Given the description of an element on the screen output the (x, y) to click on. 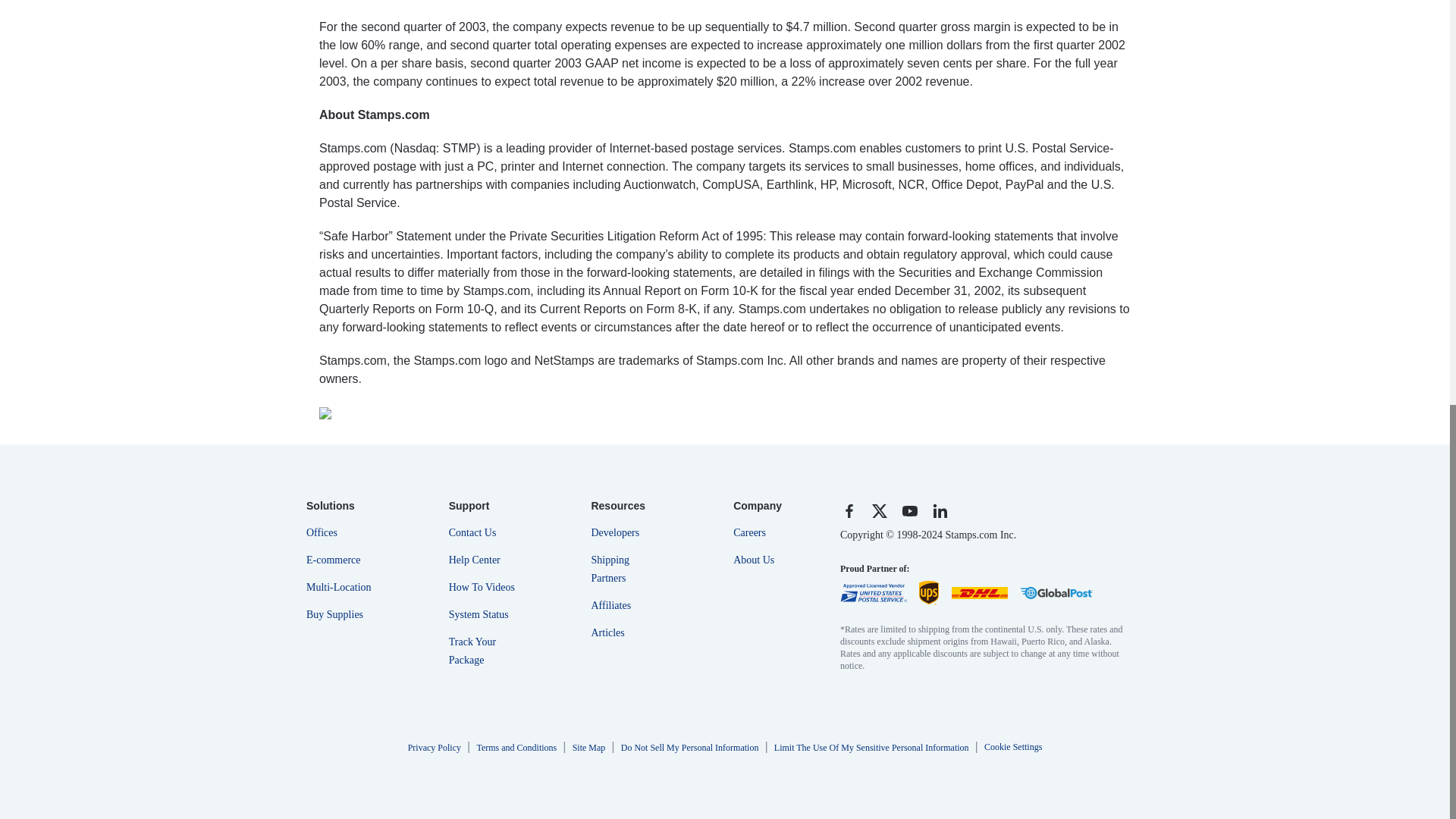
Buy Supplies (341, 610)
Help Center (483, 555)
How To Videos (483, 583)
System Status (483, 610)
Shipping Partners (626, 565)
Help Center (483, 555)
Developers (626, 528)
Contact Us (483, 528)
How To Videos (483, 583)
Offices (341, 528)
